Given the description of an element on the screen output the (x, y) to click on. 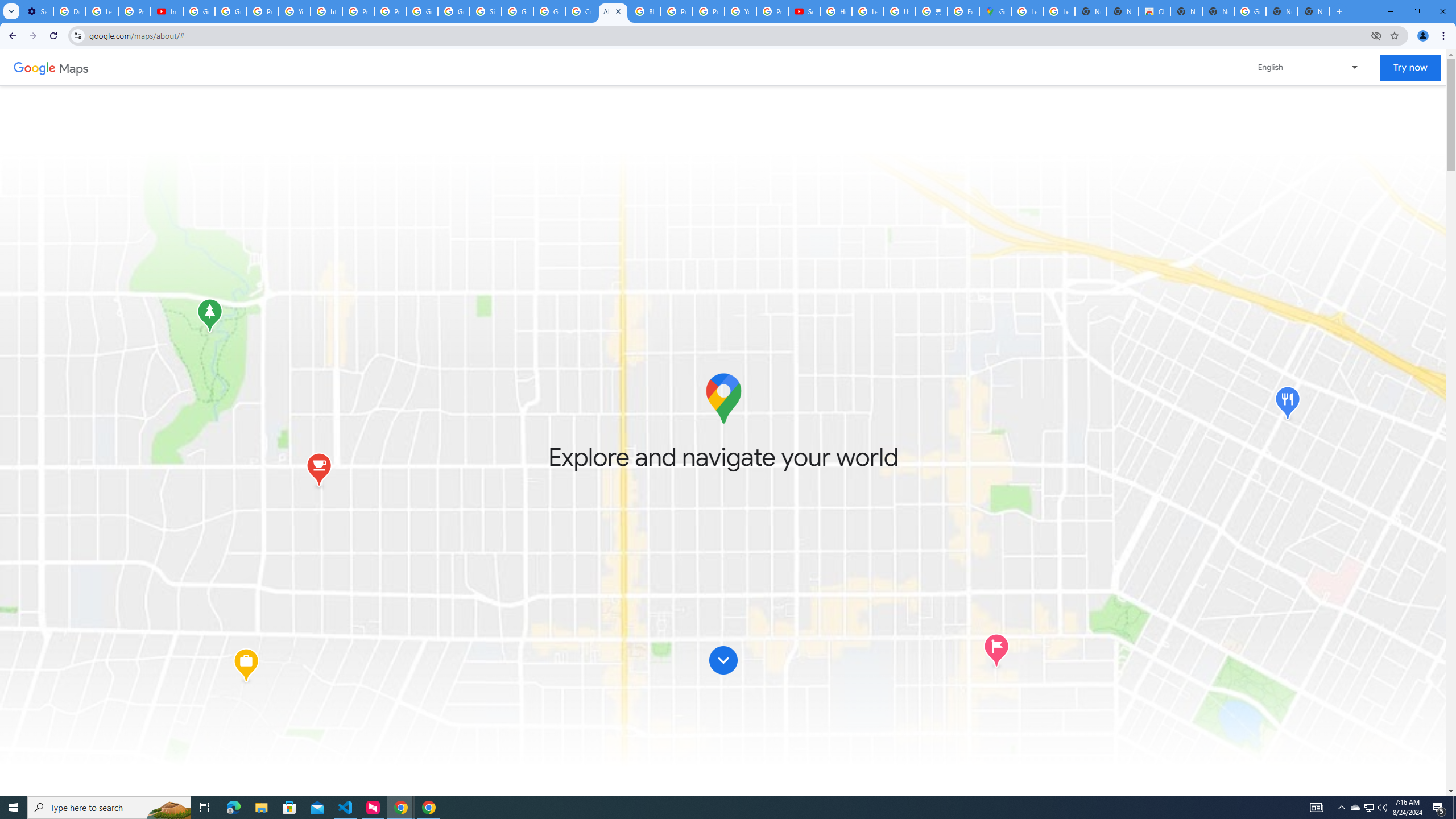
Explore new street-level details - Google Maps Help (963, 11)
